Given the description of an element on the screen output the (x, y) to click on. 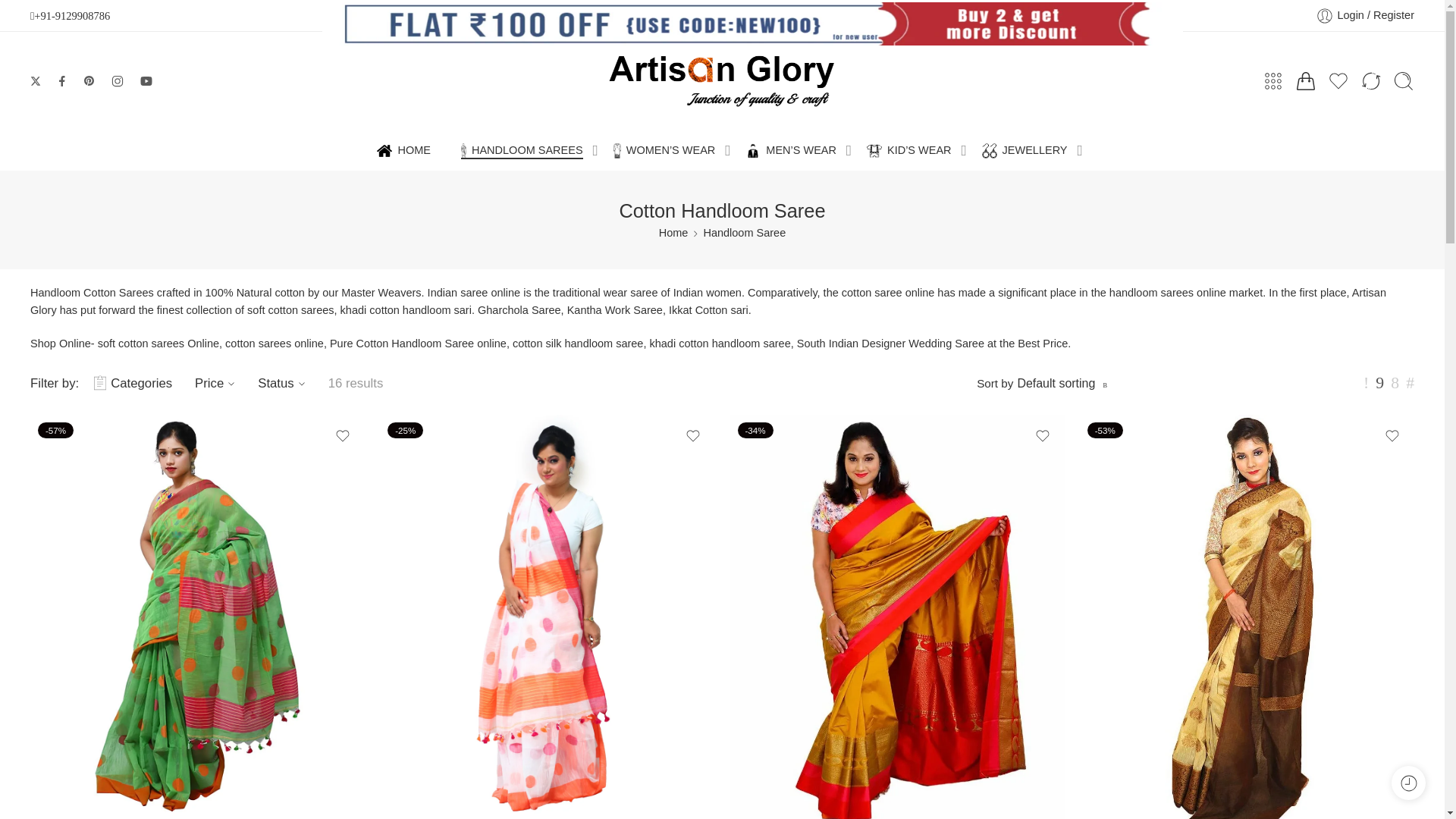
Search (1403, 80)
Follow us on Pinterest (89, 80)
Follow us on Facebook (62, 80)
Wishlist (1338, 80)
Follow us on Instagram (116, 80)
Follow us on X (35, 81)
HOME (403, 150)
HOME (403, 150)
Product Categories (1273, 80)
Follow us on YouTube (145, 80)
Cart (1305, 80)
HANDLOOM SAREES (522, 150)
Compare (1370, 80)
